Given the description of an element on the screen output the (x, y) to click on. 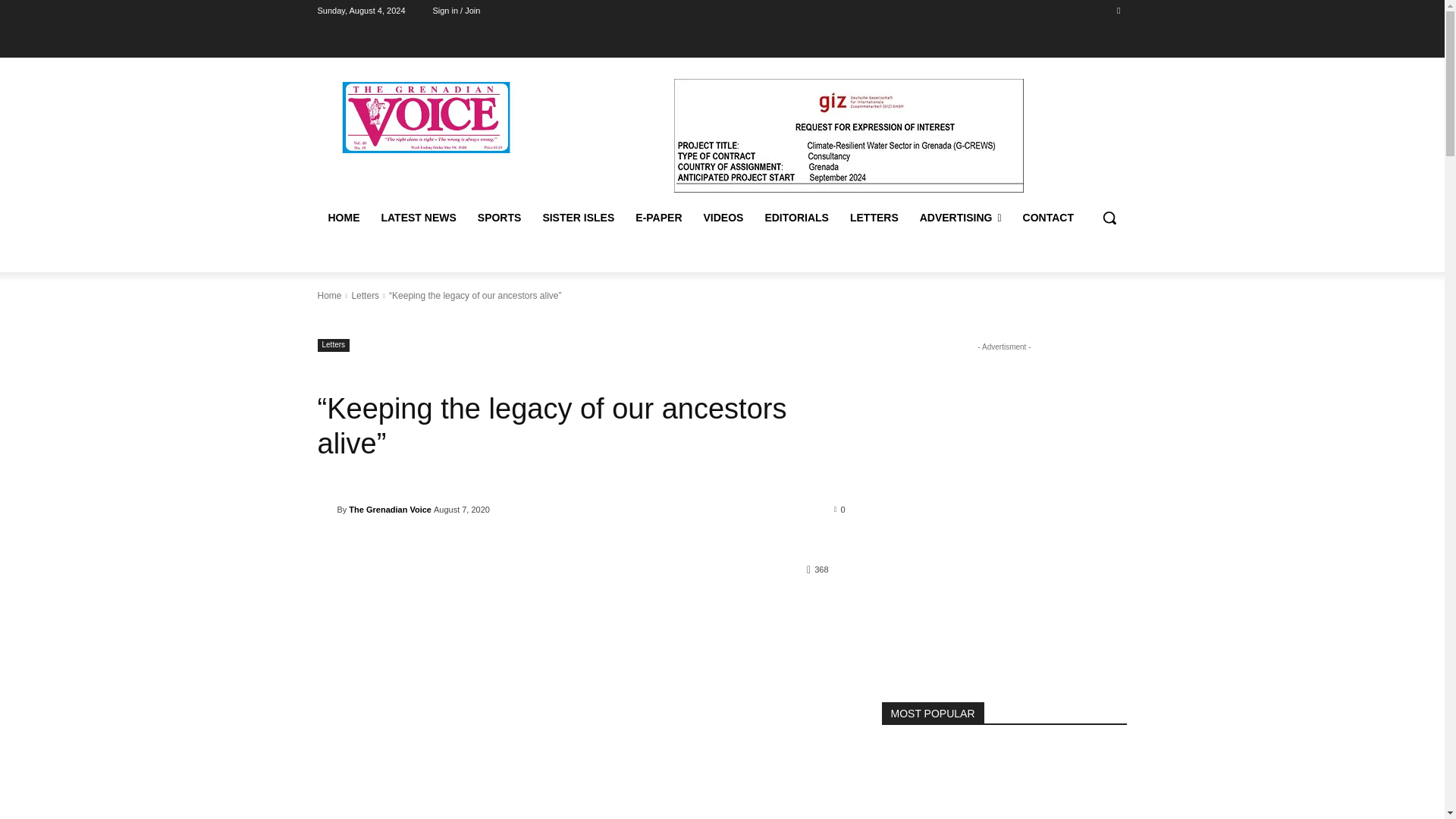
SISTER ISLES (577, 217)
LETTERS (874, 217)
VIDEOS (723, 217)
ADVERTISING (959, 217)
LATEST NEWS (417, 217)
Facebook (1117, 9)
HOME (343, 217)
SPORTS (499, 217)
EDITORIALS (797, 217)
E-PAPER (658, 217)
